Given the description of an element on the screen output the (x, y) to click on. 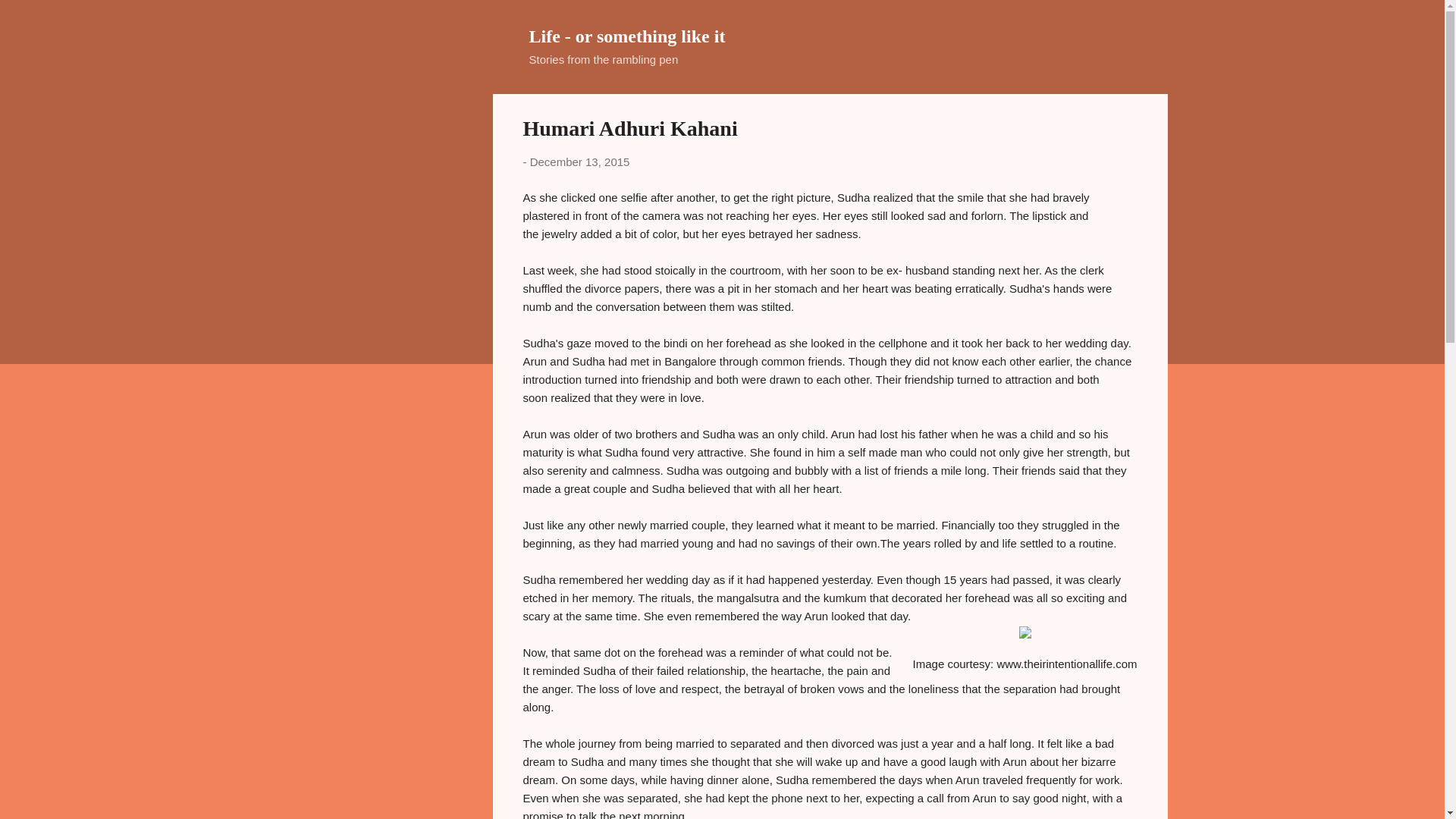
December 13, 2015 (579, 161)
Life - or something like it (627, 35)
Search (29, 18)
permanent link (579, 161)
